Given the description of an element on the screen output the (x, y) to click on. 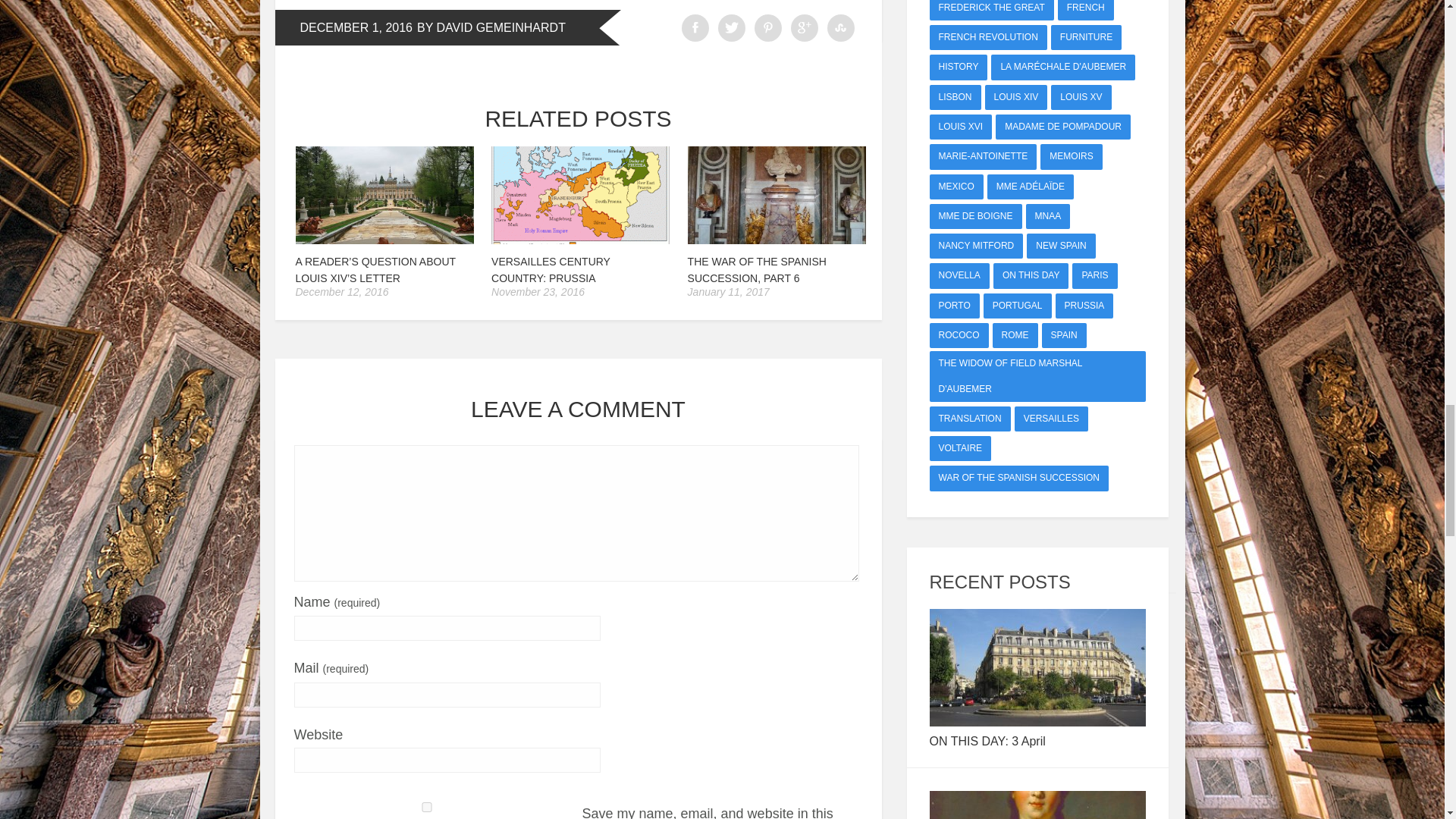
yes (426, 807)
BY DAVID GEMEINHARDT (490, 28)
Permanent Link to The War of the Spanish Succession, Part 6 (757, 269)
DECEMBER 1, 2016 (355, 28)
Permanent Link to Versailles Century Country: Prussia (551, 269)
Permanent Link to The War of the Spanish Succession, Part 6 (776, 239)
Permanent Link to Versailles Century Country: Prussia (580, 239)
